Given the description of an element on the screen output the (x, y) to click on. 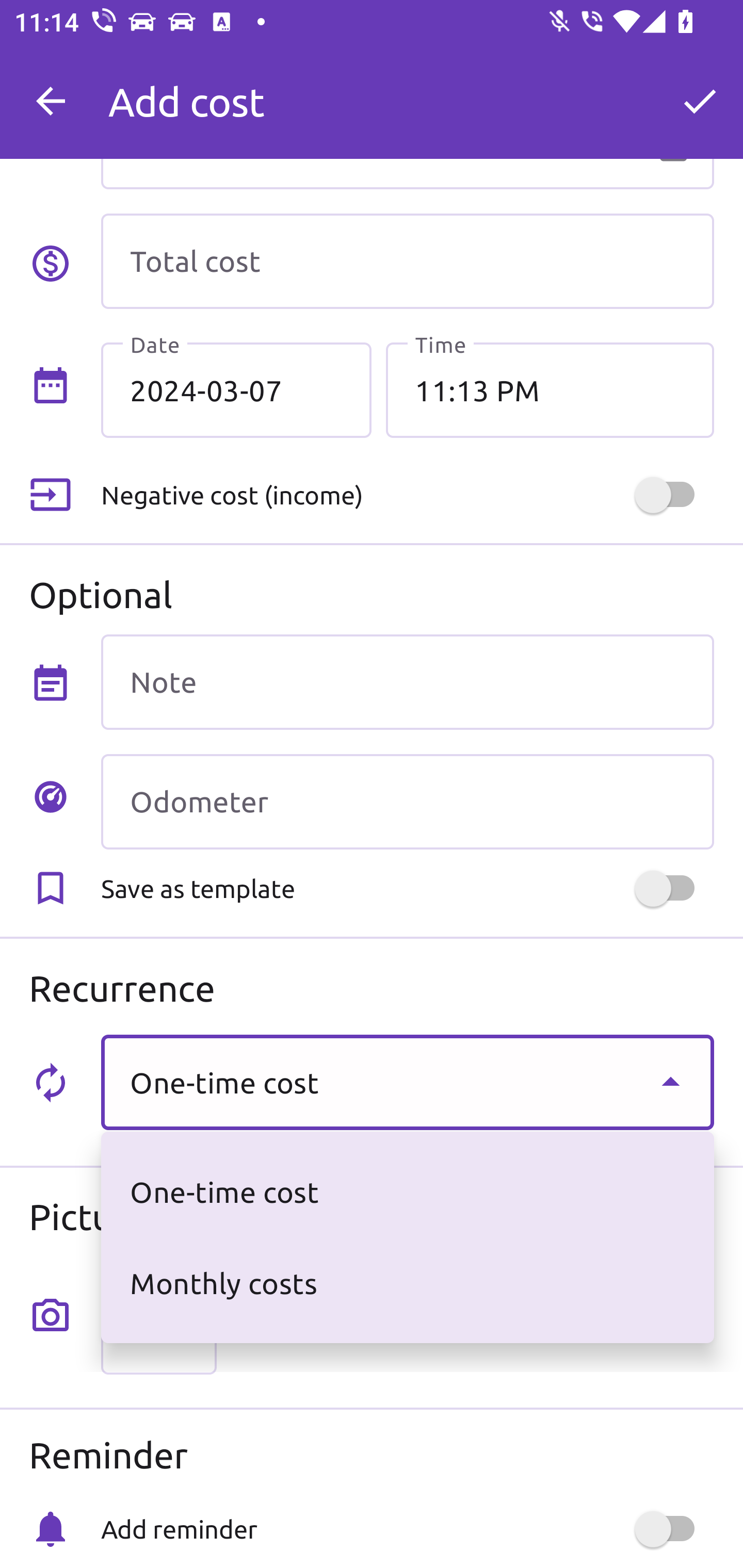
M My Car 0 km (407, 92)
Navigate up (50, 101)
OK (699, 101)
Total cost  (407, 260)
2024-03-07 (236, 389)
11:13 PM (549, 389)
Negative cost (income) (407, 494)
Note (407, 682)
Odometer (407, 801)
Save as template (407, 887)
One-time cost (407, 1082)
Show dropdown menu (670, 1081)
Add reminder (407, 1529)
